Given the description of an element on the screen output the (x, y) to click on. 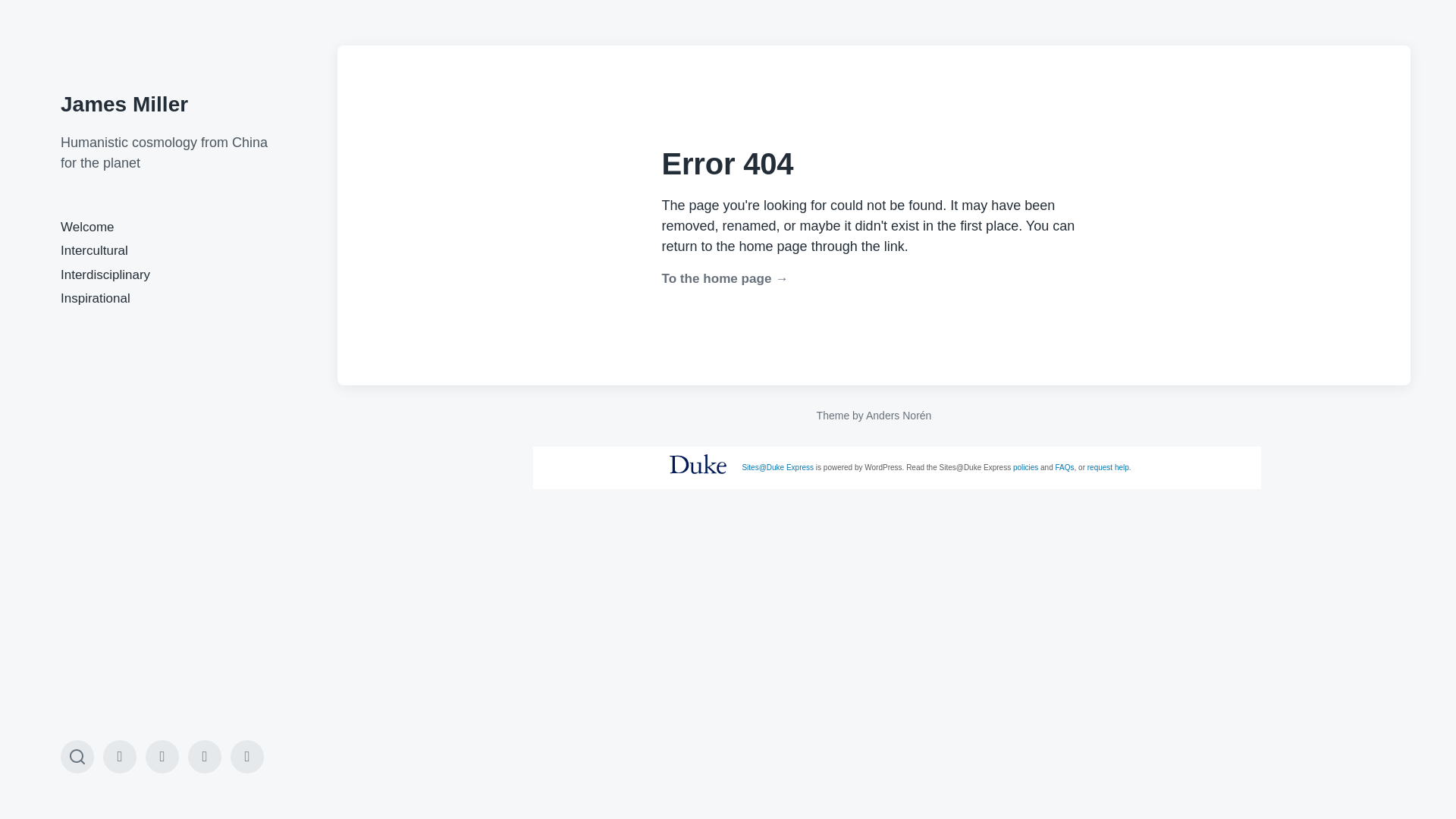
Inspirational (246, 756)
Interdisciplinary (105, 274)
Intercultural (162, 756)
policies (1025, 466)
request help (1108, 466)
Inspirational (96, 298)
FAQs (1064, 466)
Intercultural (94, 250)
Welcome (88, 227)
James Miller (124, 104)
Toggle the search field (77, 756)
Visit Duke.edu (697, 463)
Welcome (119, 756)
Interdisciplinary (204, 756)
